Given the description of an element on the screen output the (x, y) to click on. 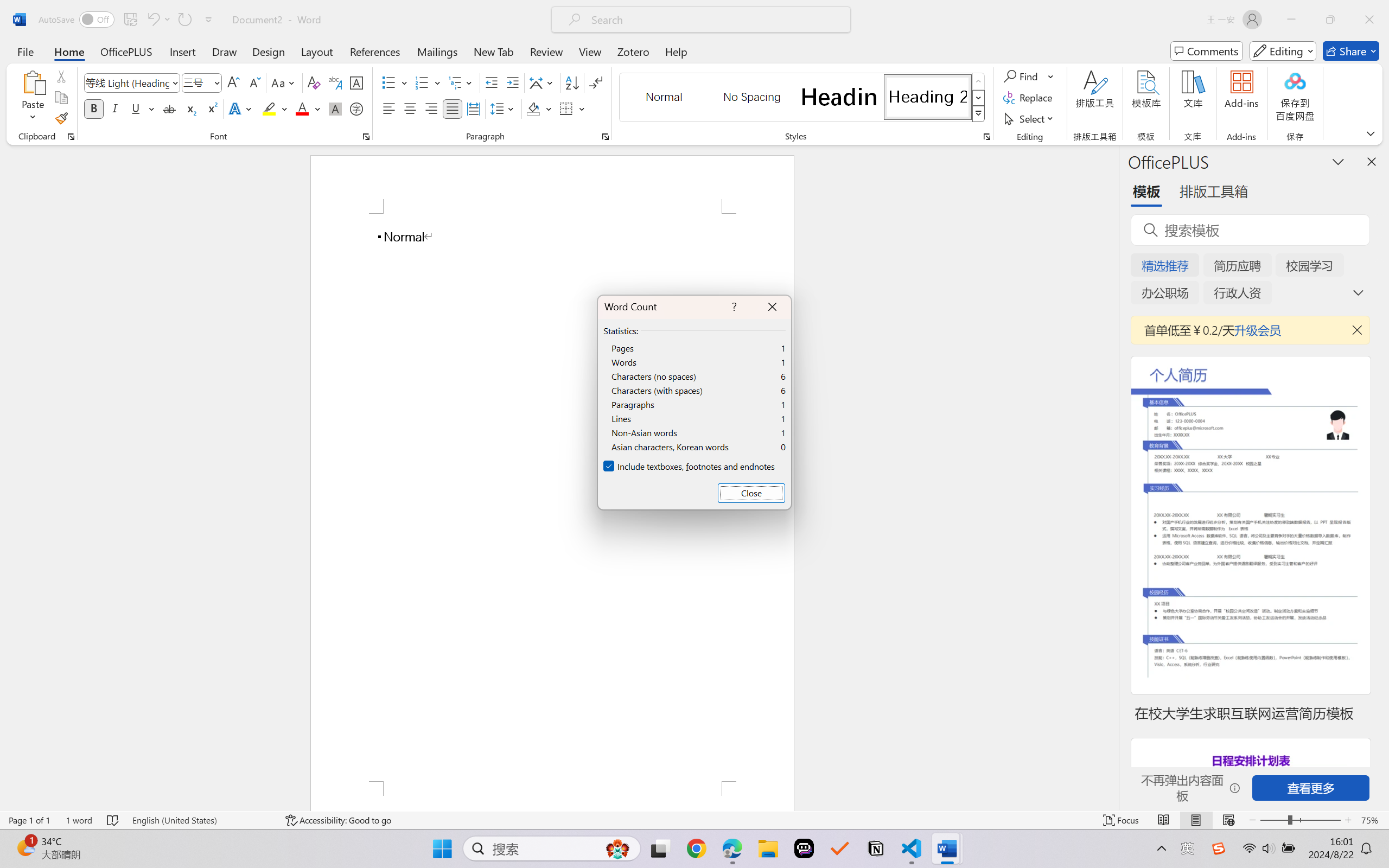
Bullets (388, 82)
References (375, 51)
Include textboxes, footnotes and endnotes (689, 466)
Borders (571, 108)
Strikethrough (169, 108)
Web Layout (1228, 819)
Zoom Out (1273, 819)
Distributed (473, 108)
Paragraph... (605, 136)
Heading 1 (839, 96)
